Given the description of an element on the screen output the (x, y) to click on. 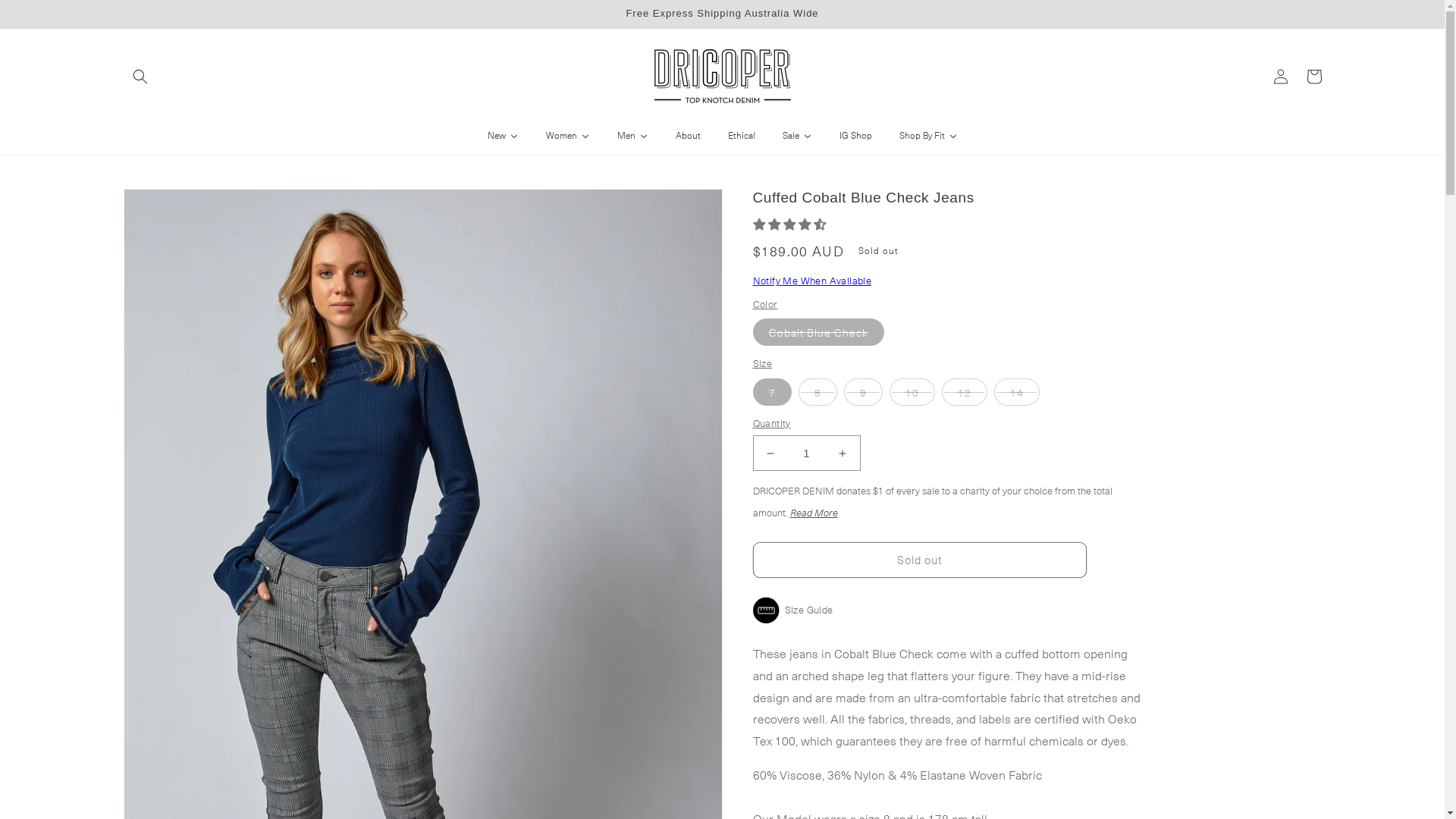
Ethical Element type: text (741, 135)
Women Element type: text (567, 135)
Notify Me When Available Element type: text (811, 280)
Increase quantity for Cuffed Cobalt Blue Check Jeans Element type: text (842, 452)
About Element type: text (687, 135)
Cart Element type: text (1313, 76)
Sold out Element type: text (918, 559)
New Element type: text (502, 135)
Log in Element type: text (1279, 76)
IG Shop Element type: text (854, 135)
Sale Element type: text (796, 135)
Free Express Shipping Australia Wide Element type: text (722, 14)
Shop By Fit Element type: text (928, 135)
Skip to product information Element type: text (168, 205)
Men Element type: text (632, 135)
Decrease quantity for Cuffed Cobalt Blue Check Jeans Element type: text (770, 452)
Read More Element type: text (813, 512)
